Given the description of an element on the screen output the (x, y) to click on. 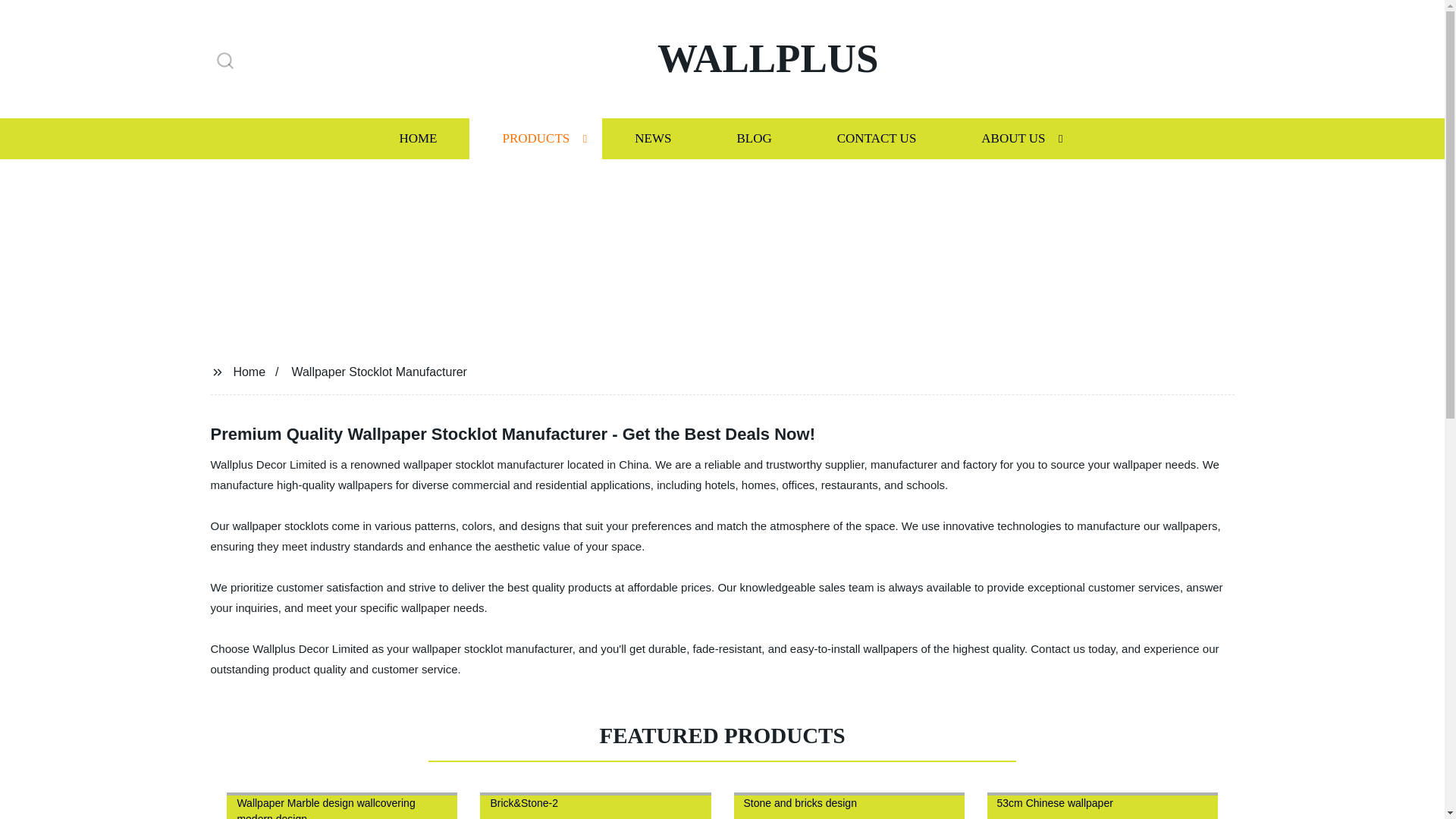
ABOUT US (1013, 137)
Wallpaper Stocklot Manufacturer (379, 371)
Stone and bricks design (848, 801)
Home (248, 371)
53cm Chinese wallpaper (1101, 801)
BLOG (753, 137)
PRODUCTS (535, 137)
NEWS (652, 137)
HOME (417, 137)
CONTACT US (877, 137)
